Given the description of an element on the screen output the (x, y) to click on. 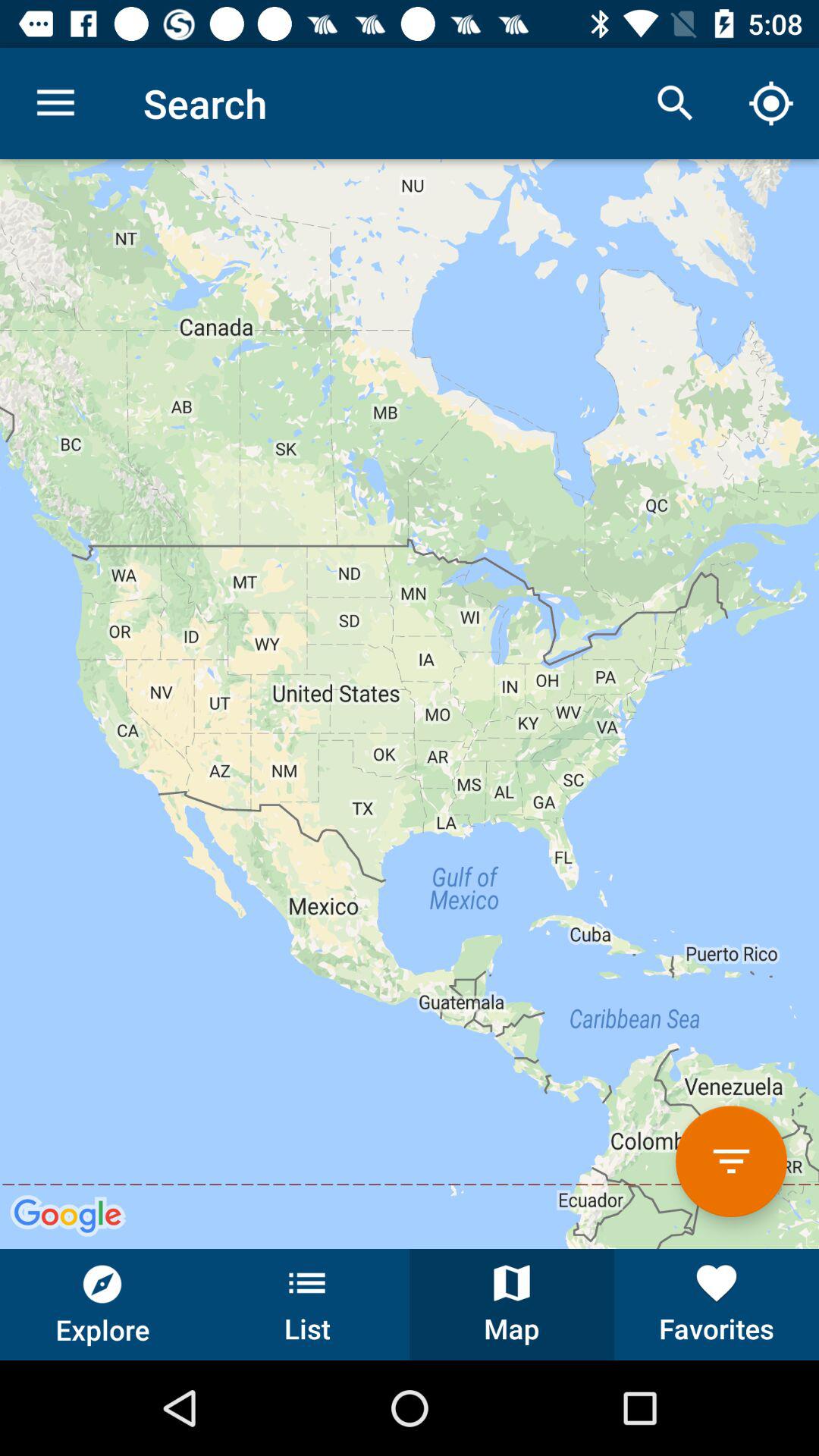
select the button to the right of the explore icon (306, 1304)
